Given the description of an element on the screen output the (x, y) to click on. 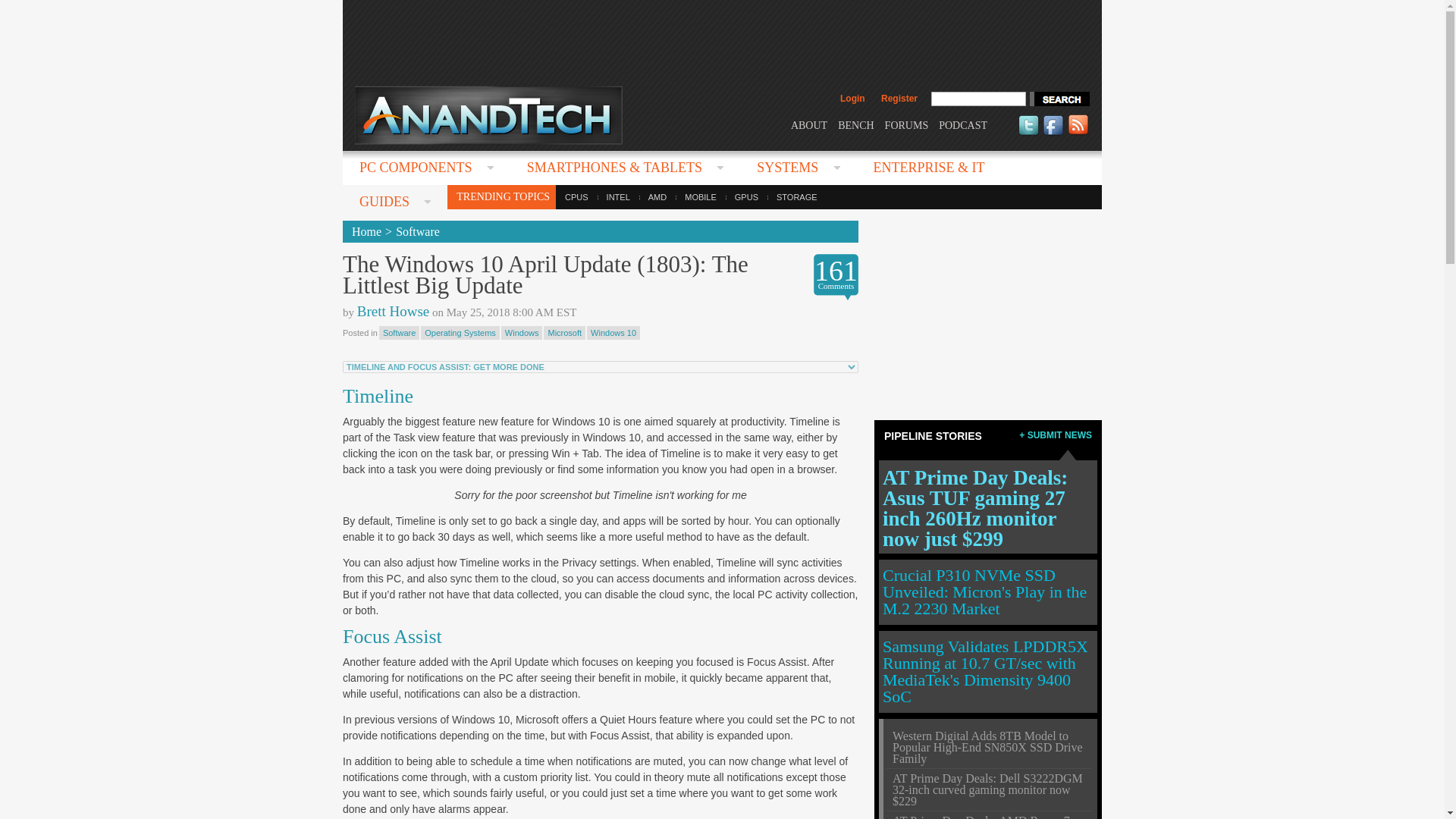
search (1059, 98)
PODCAST (963, 125)
ABOUT (808, 125)
search (1059, 98)
search (1059, 98)
Register (898, 98)
Login (852, 98)
BENCH (855, 125)
FORUMS (906, 125)
